Given the description of an element on the screen output the (x, y) to click on. 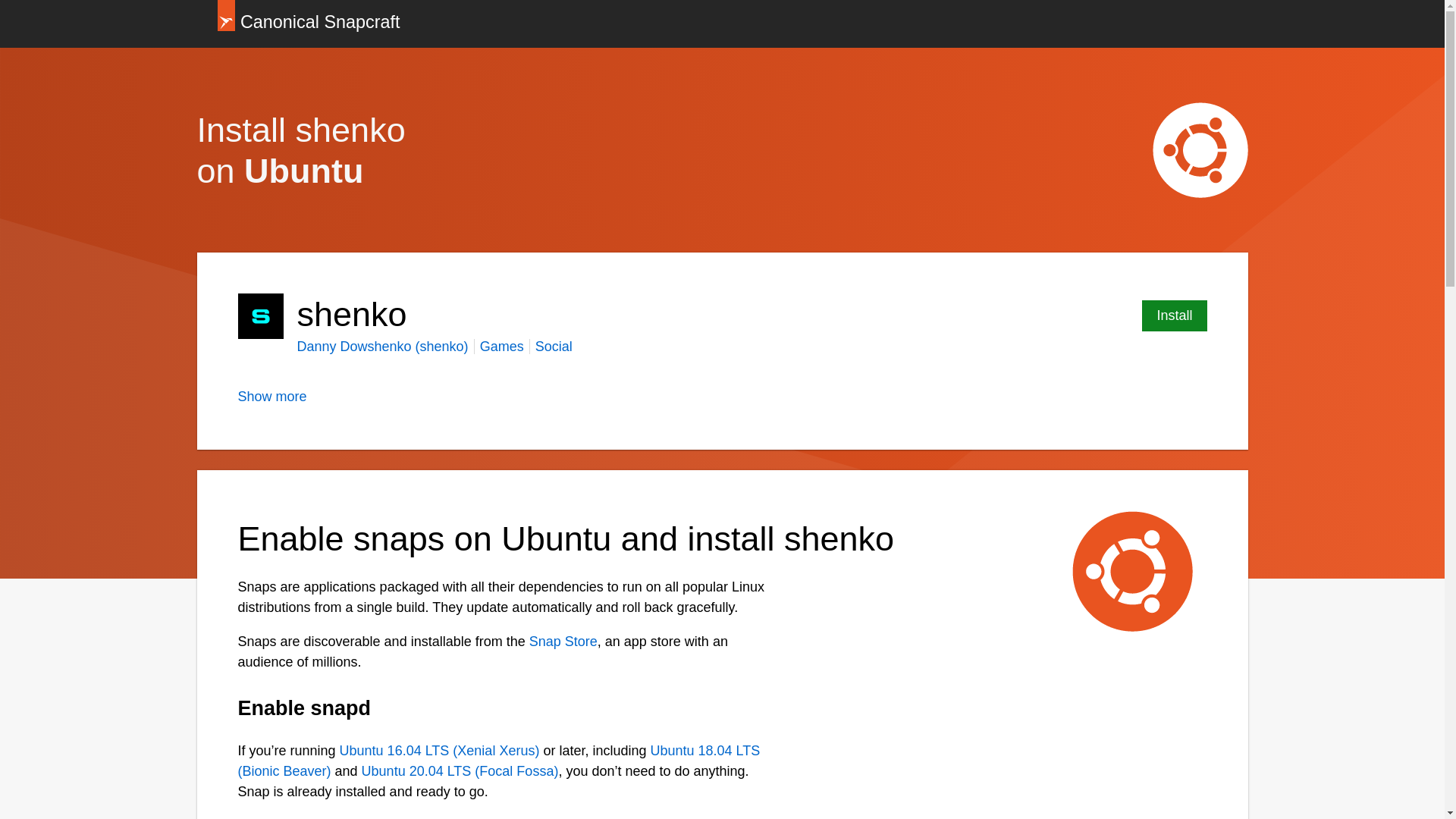
Snap Store (562, 641)
Install (1174, 315)
Show more (272, 396)
Social (553, 346)
Canonical Snapcraft (307, 23)
Games (502, 346)
